Given the description of an element on the screen output the (x, y) to click on. 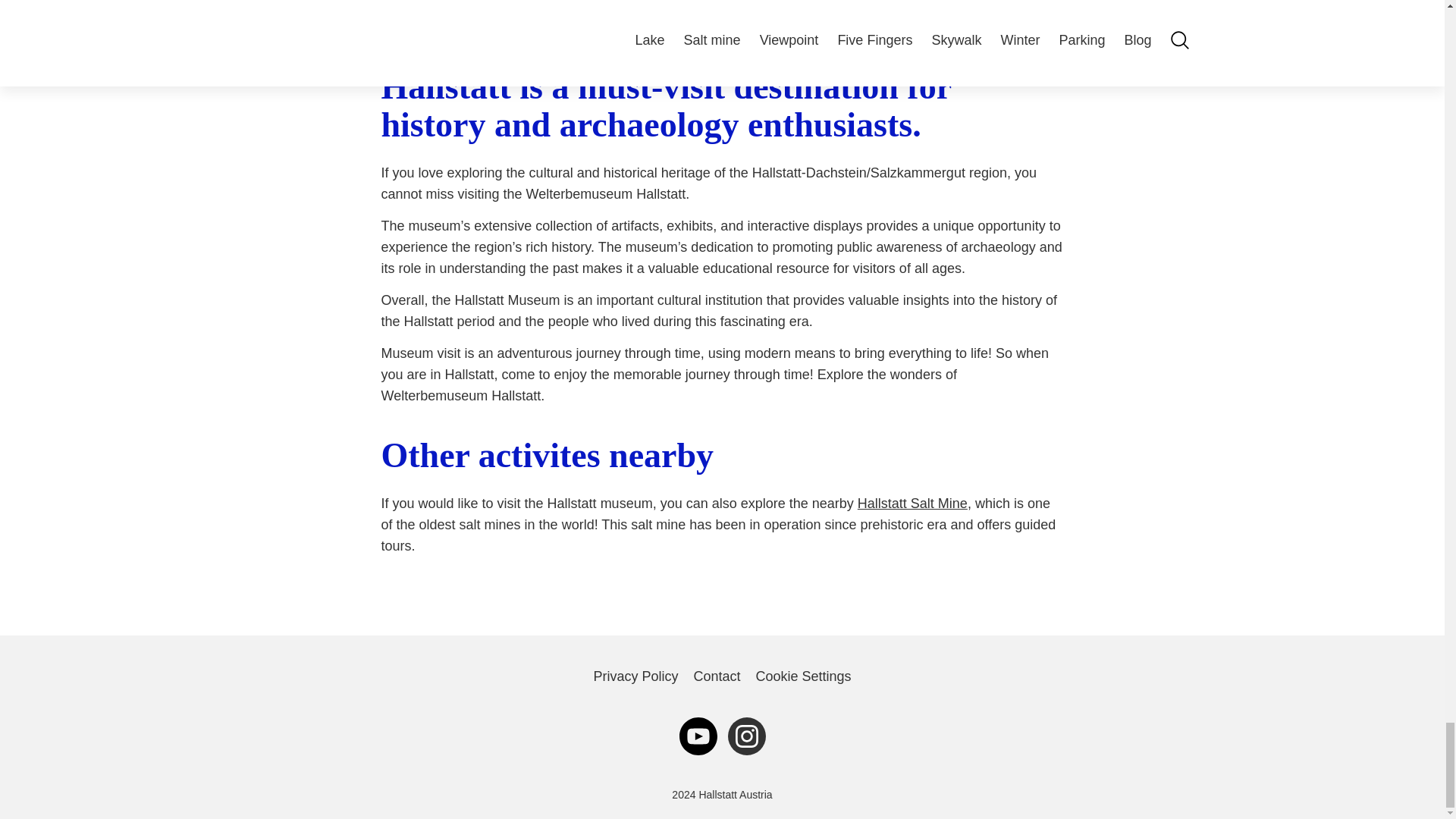
Contact (716, 676)
Cookie Settings (802, 676)
Privacy Policy (635, 676)
Hallstatt Salt Mine (912, 503)
